Given the description of an element on the screen output the (x, y) to click on. 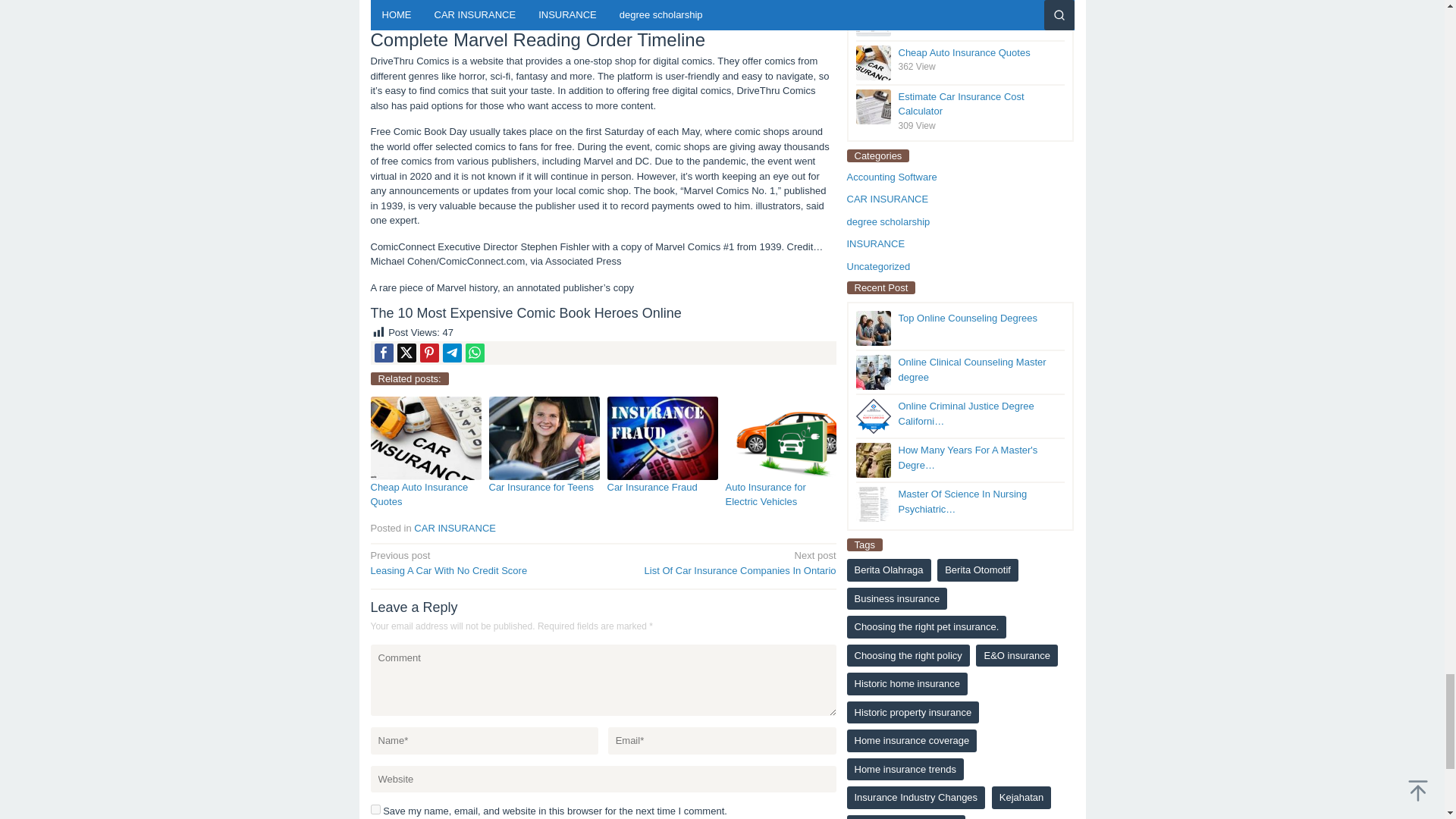
Car Insurance Fraud (652, 487)
Pin this (429, 352)
Tweet this (723, 561)
yes (406, 352)
Car Insurance for Teens (374, 809)
Share this (540, 487)
Cheap Auto Insurance Quotes (383, 352)
Auto Insurance for Electric Vehicles (418, 494)
Telegram Share (765, 494)
CAR INSURANCE (451, 352)
